Given the description of an element on the screen output the (x, y) to click on. 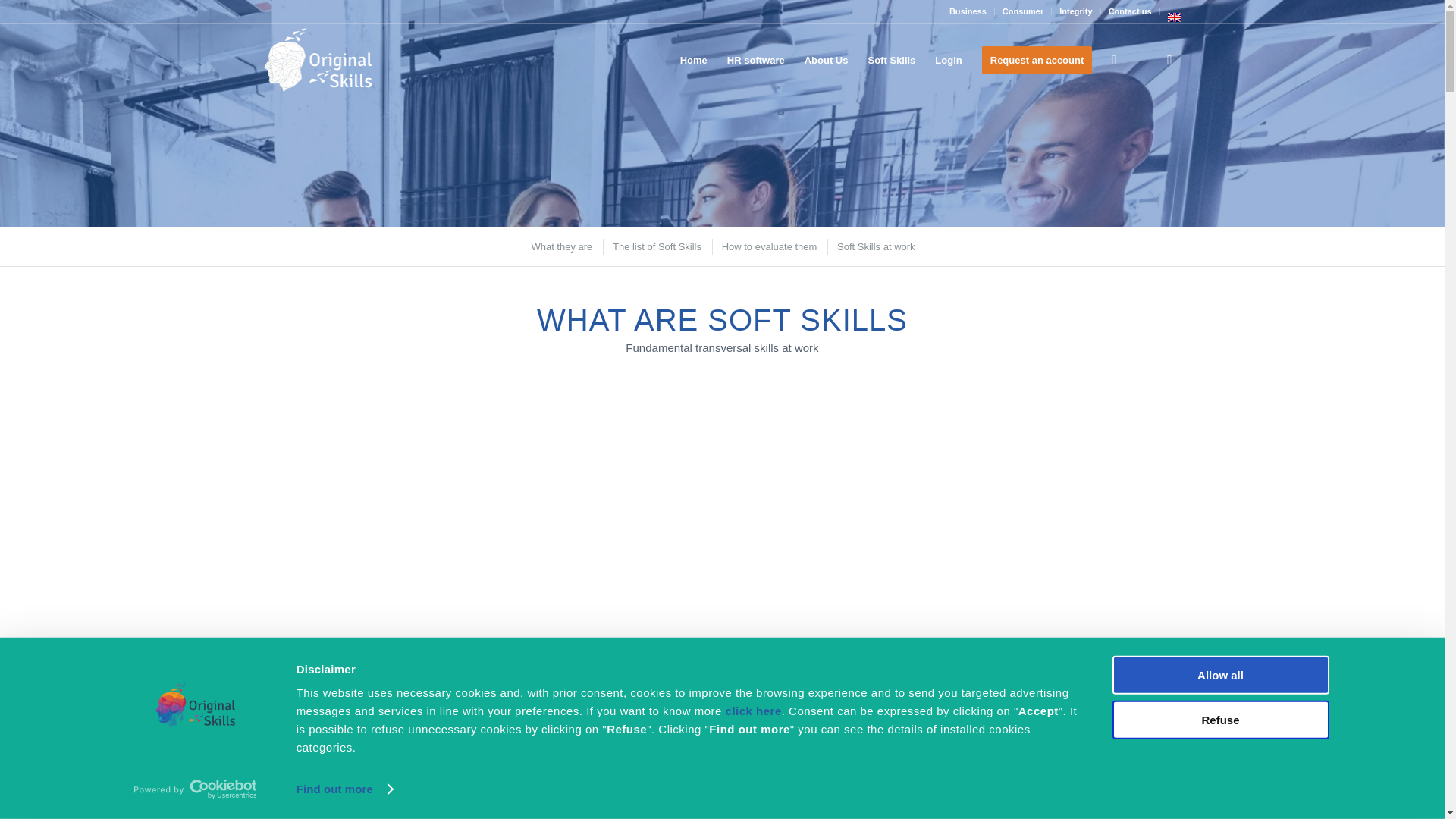
Find out more (345, 789)
Contact us (1129, 11)
Consumer (1023, 11)
Integrity (1075, 11)
Allow all (1219, 675)
Refuse (1219, 719)
Business (968, 11)
click here (753, 710)
